Given the description of an element on the screen output the (x, y) to click on. 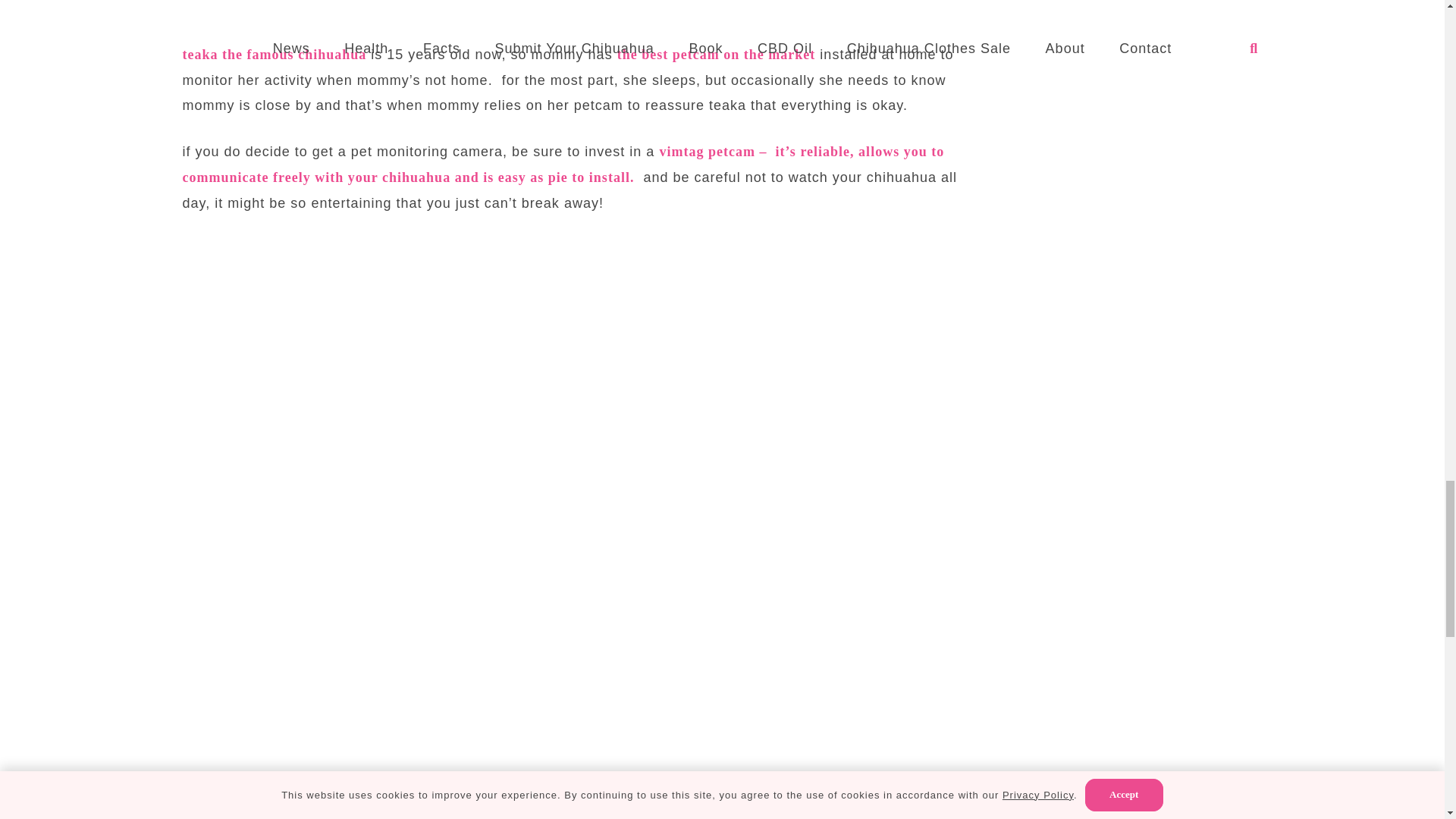
teaka the famous chihuahua (274, 54)
the best petcam on the market (716, 54)
